Given the description of an element on the screen output the (x, y) to click on. 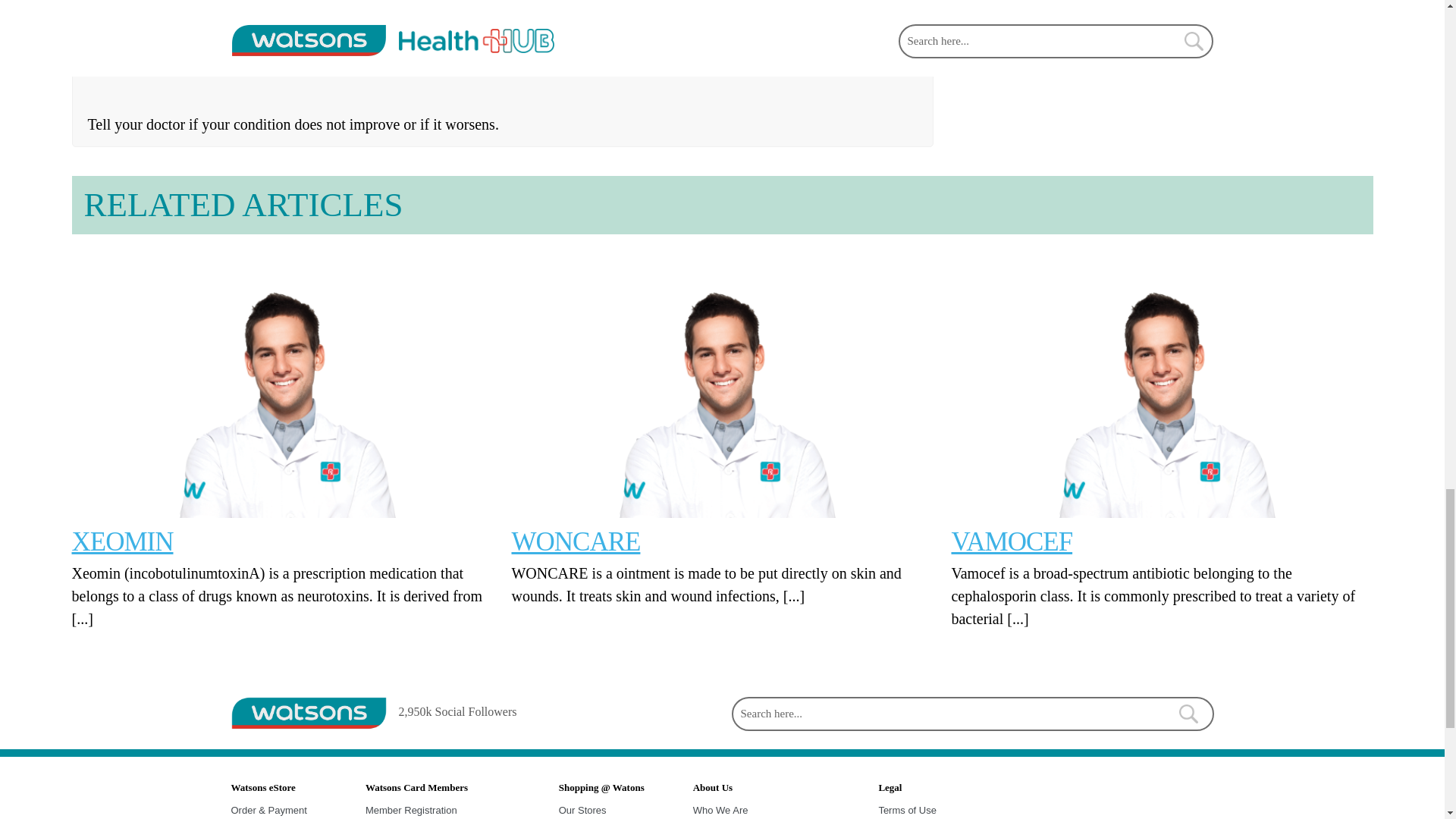
VAMOCEF (1010, 541)
XEOMIN (122, 541)
XEOMIN (282, 384)
XEOMIN (122, 541)
WONCARE (575, 541)
WONCARE (722, 384)
Member Registration (411, 809)
VAMOCEF (1161, 384)
WONCARE (575, 541)
VAMOCEF (1010, 541)
